Given the description of an element on the screen output the (x, y) to click on. 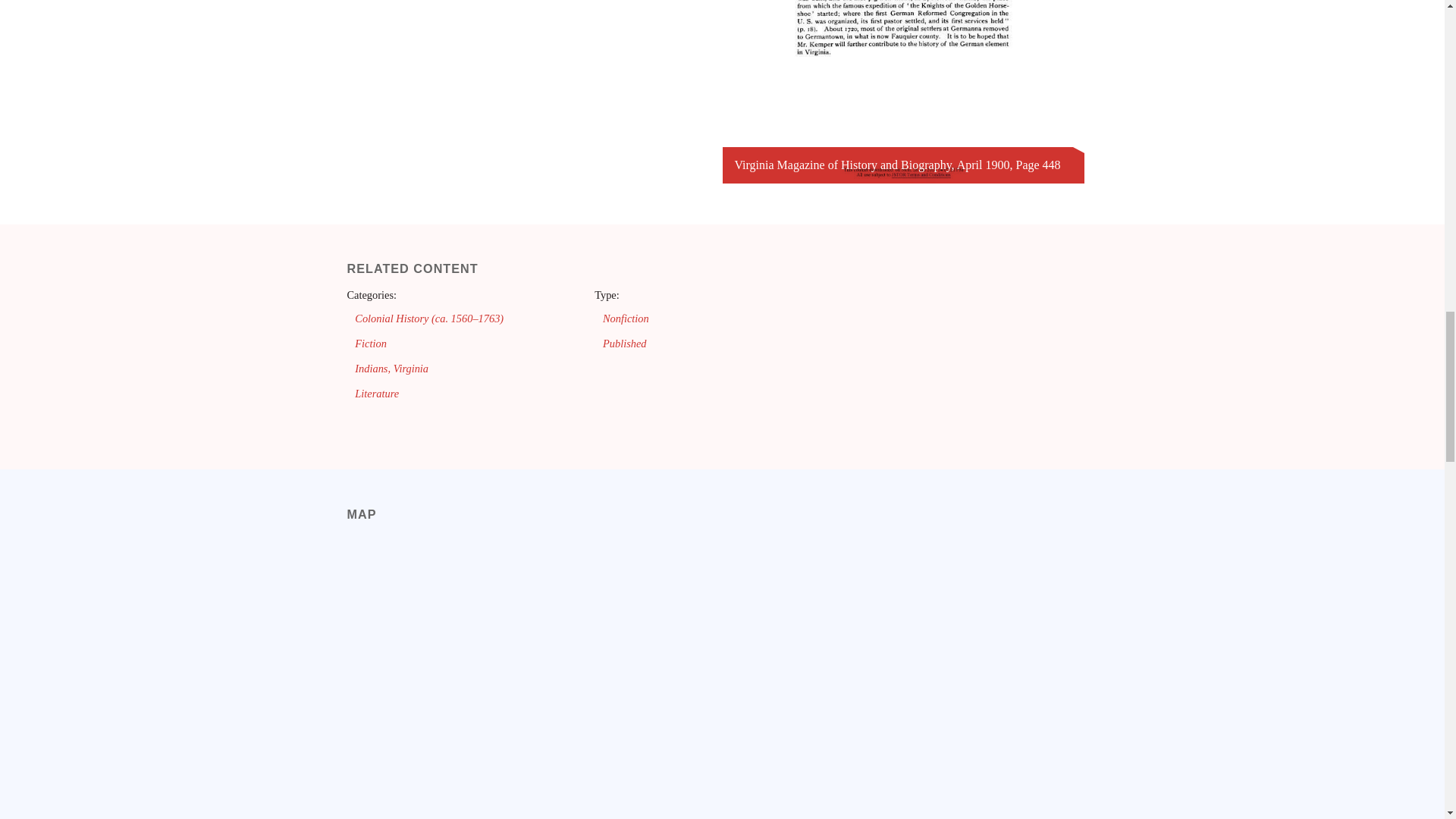
Fiction (371, 343)
Indians, Virginia (391, 368)
Literature (376, 393)
Published (624, 343)
Nonfiction (625, 318)
